Given the description of an element on the screen output the (x, y) to click on. 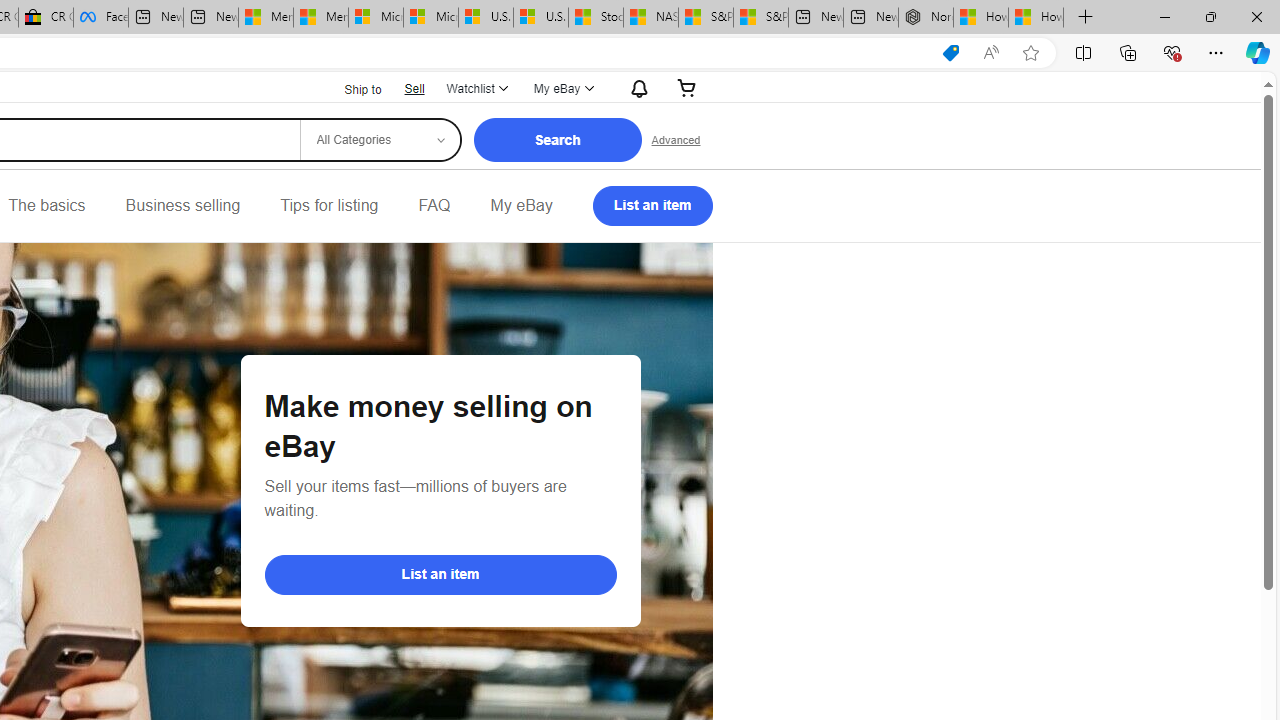
Tips for listing (329, 205)
Your shopping cart (687, 88)
My eBay (521, 205)
This site has coupons! Shopping in Microsoft Edge (950, 53)
Expand Cart (687, 88)
